Given the description of an element on the screen output the (x, y) to click on. 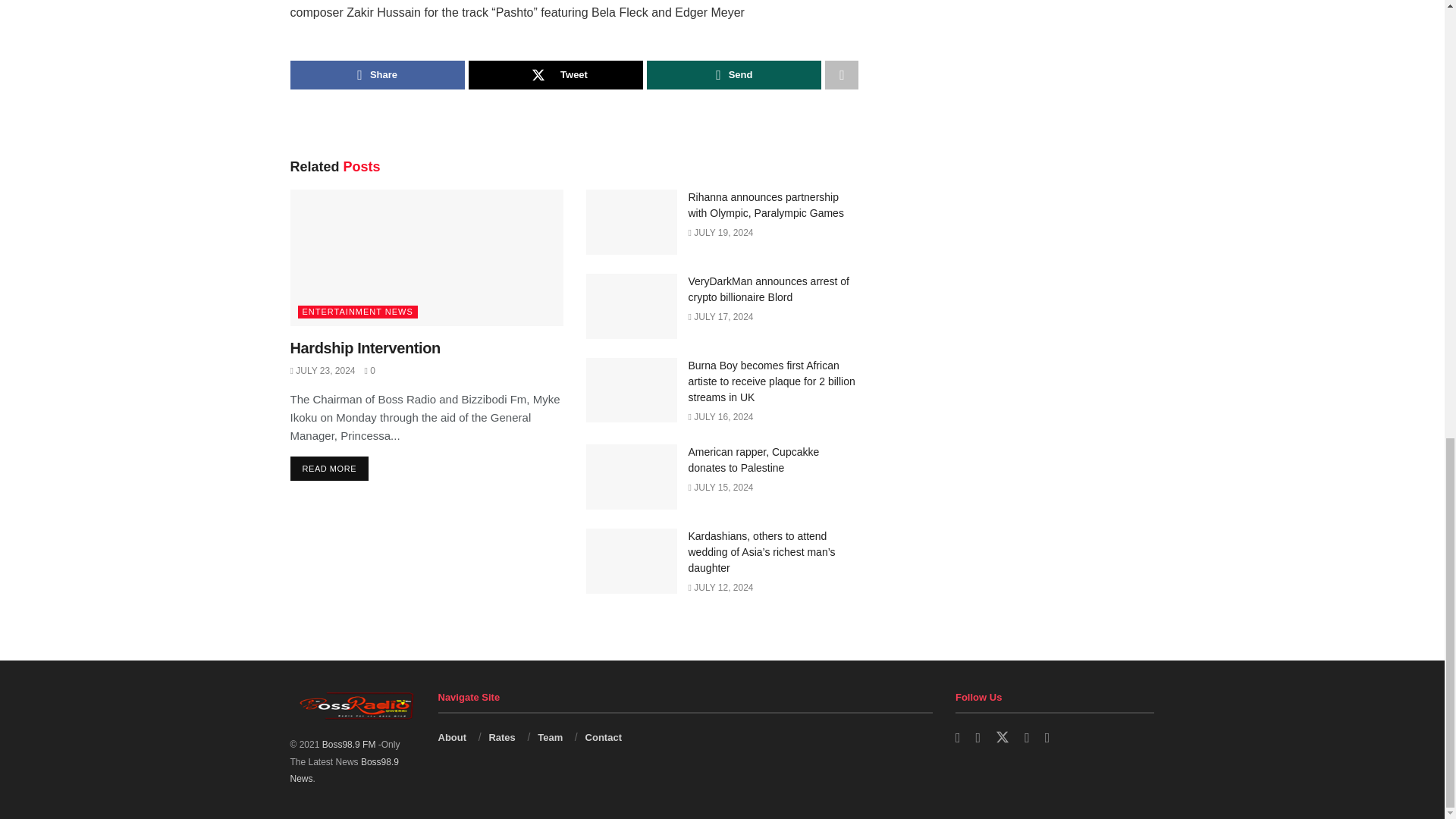
 Boss98.9 FM (343, 769)
